Given the description of an element on the screen output the (x, y) to click on. 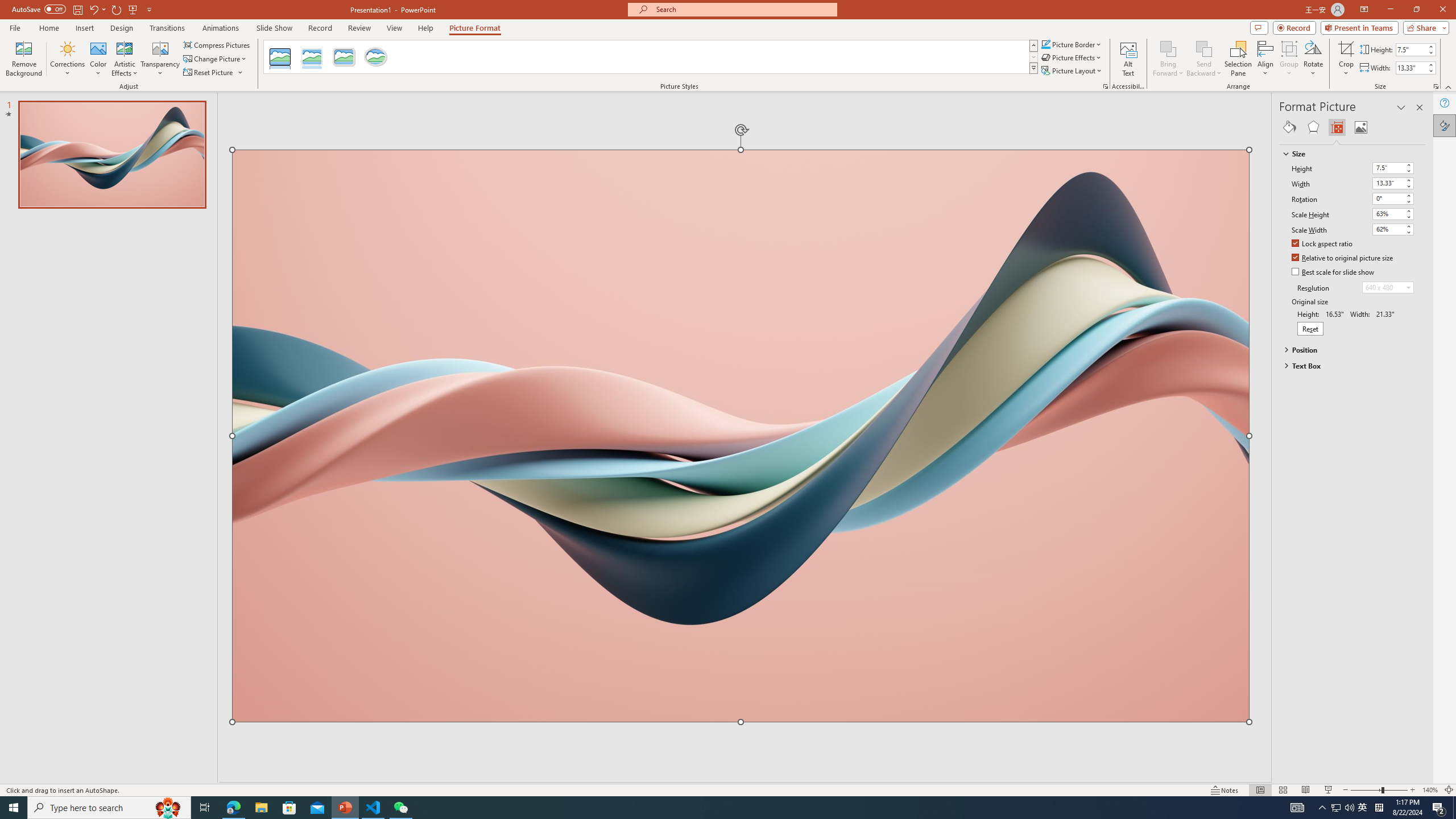
Remove Background (23, 58)
Size & Properties (1336, 126)
Metal Oval (375, 56)
Resolution (1387, 287)
Relative to original picture size (1342, 258)
Effects (1313, 126)
Lock aspect ratio (1322, 244)
Shape Width (1410, 67)
